Given the description of an element on the screen output the (x, y) to click on. 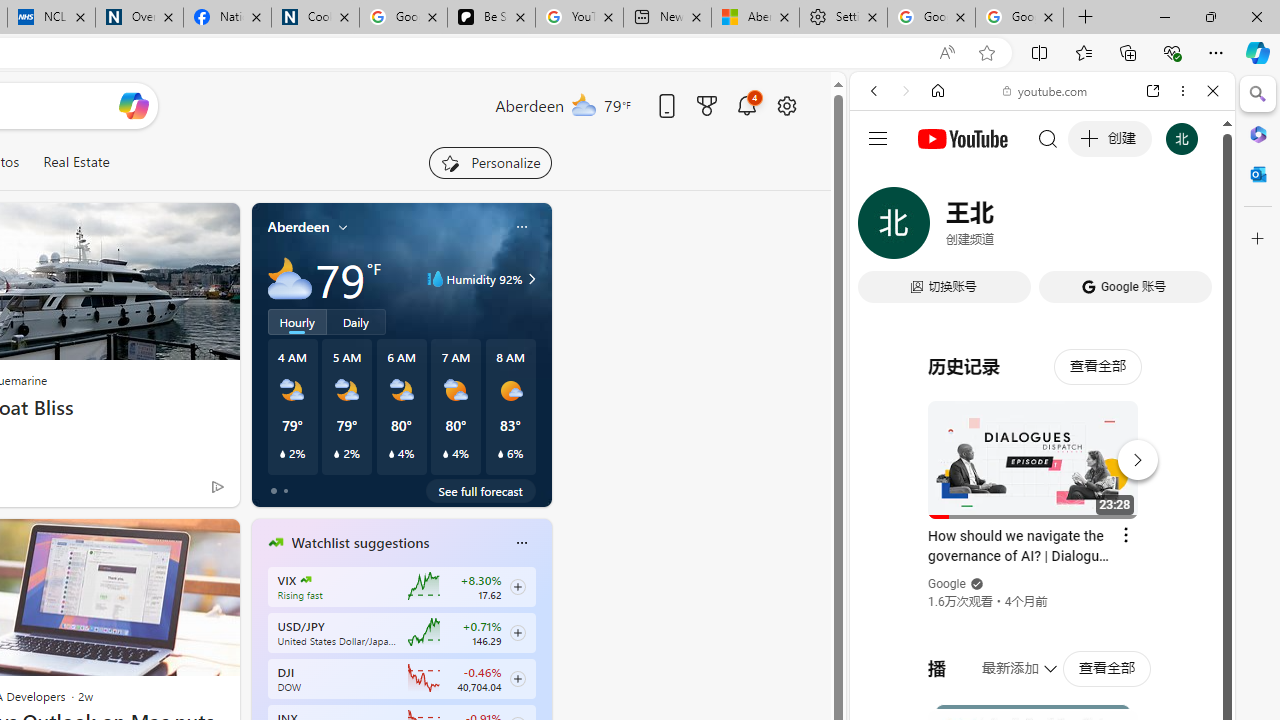
Preferences (1189, 228)
Aberdeen, Hong Kong SAR hourly forecast | Microsoft Weather (754, 17)
Hide this story (178, 542)
Class: follow-button  m (517, 678)
next (541, 670)
CBOE Market Volatility Index (306, 579)
Class: weather-arrow-glyph (531, 278)
Aberdeen (298, 227)
Watchlist suggestions (360, 543)
